Given the description of an element on the screen output the (x, y) to click on. 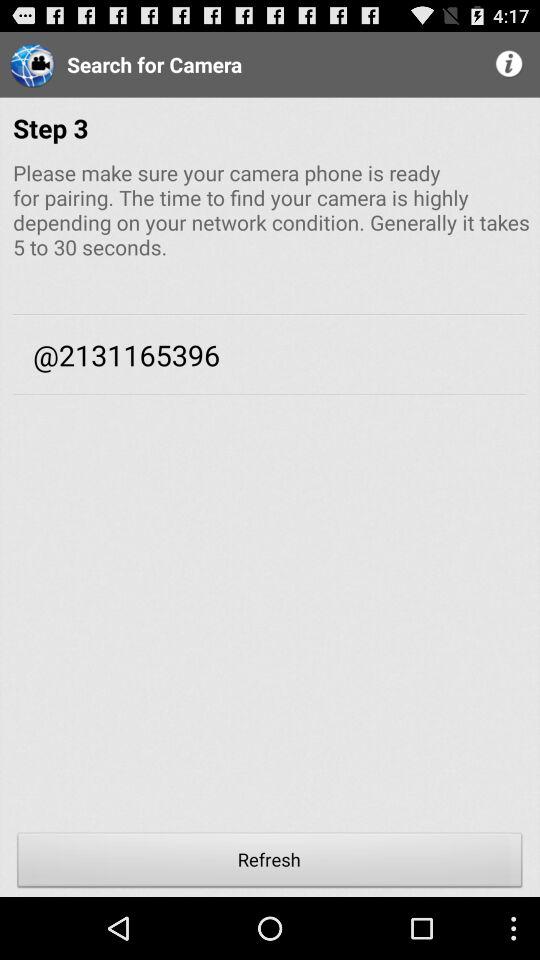
launch refresh item (269, 862)
